Given the description of an element on the screen output the (x, y) to click on. 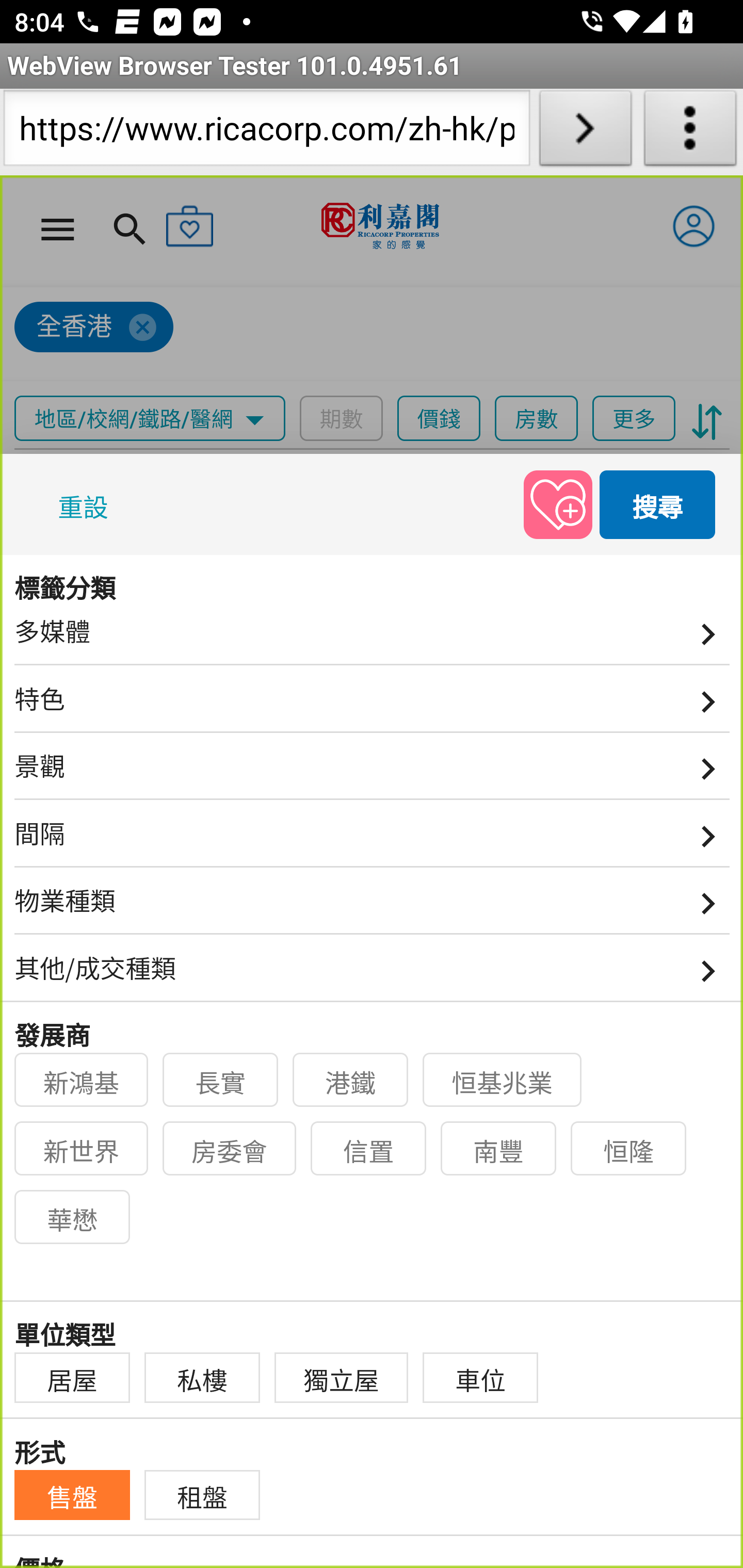
https://www.ricacorp.com/zh-hk/property/list/buy (266, 132)
Load URL (585, 132)
About WebView (690, 132)
重設 (86, 503)
save (557, 503)
搜尋 (657, 503)
室內相 (63, 580)
多媒體 (372, 637)
特色 (372, 704)
景觀 (372, 772)
間隔 (372, 840)
物業種類 (372, 907)
其他/成交種類 (372, 974)
新鴻基 (81, 1080)
長實 (220, 1080)
港鐵 (350, 1080)
恒基兆業 (502, 1080)
新世界 (81, 1149)
房委會 (229, 1149)
信置 (368, 1149)
南豐 (498, 1149)
恒隆 (629, 1149)
華懋 (72, 1217)
居屋 (72, 1377)
私樓 (202, 1377)
獨立屋 (341, 1377)
車位 (480, 1377)
售盤 (72, 1494)
租盤 (202, 1494)
